Given the description of an element on the screen output the (x, y) to click on. 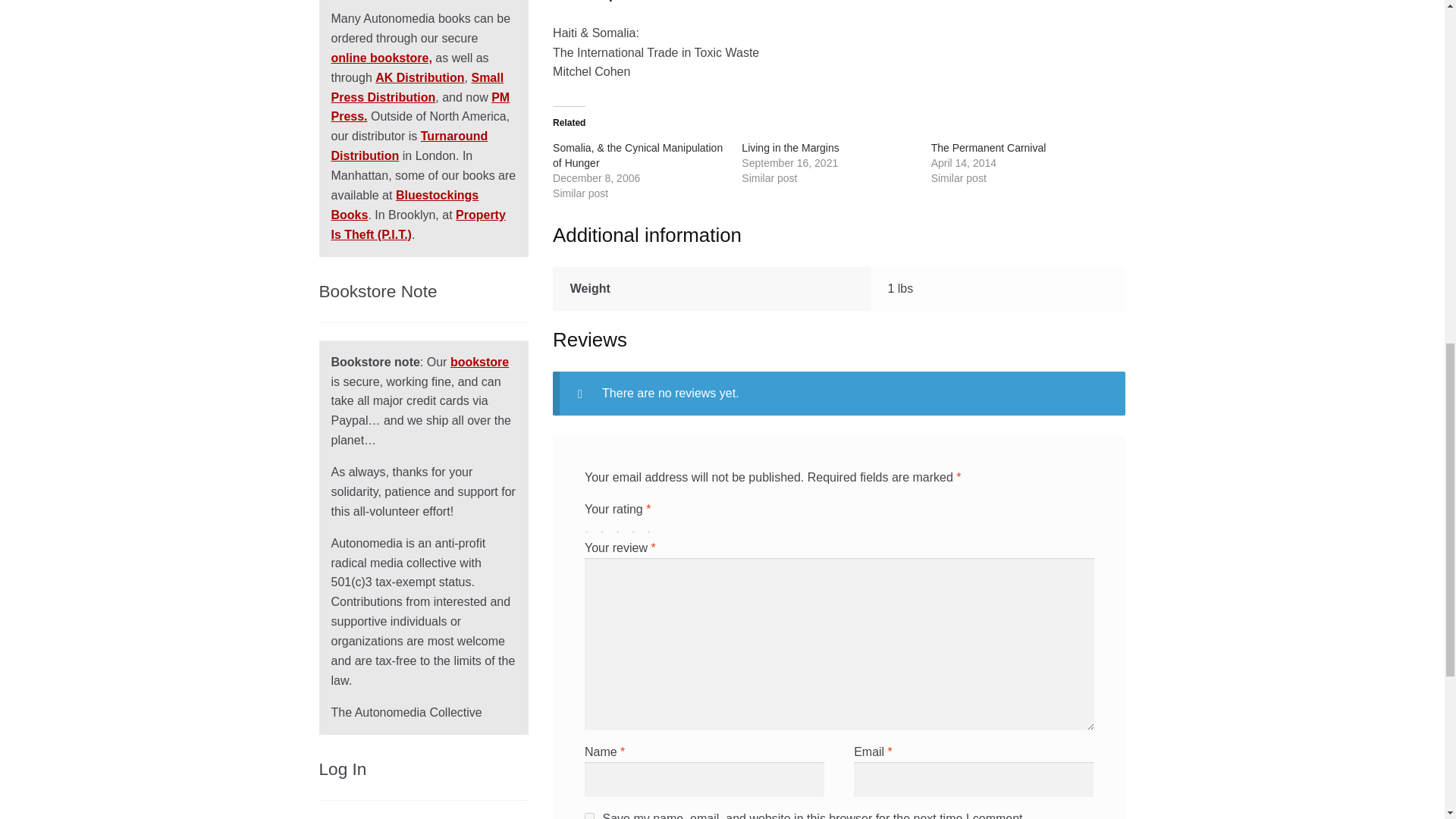
Living in the Margins (789, 147)
yes (589, 816)
Living in the Margins (789, 147)
The Permanent Carnival (988, 147)
4 (636, 526)
2 (605, 526)
AK Distribution (419, 77)
5 (652, 526)
1 (590, 526)
The Permanent Carnival (988, 147)
3 (621, 526)
online bookstore, (381, 57)
